Given the description of an element on the screen output the (x, y) to click on. 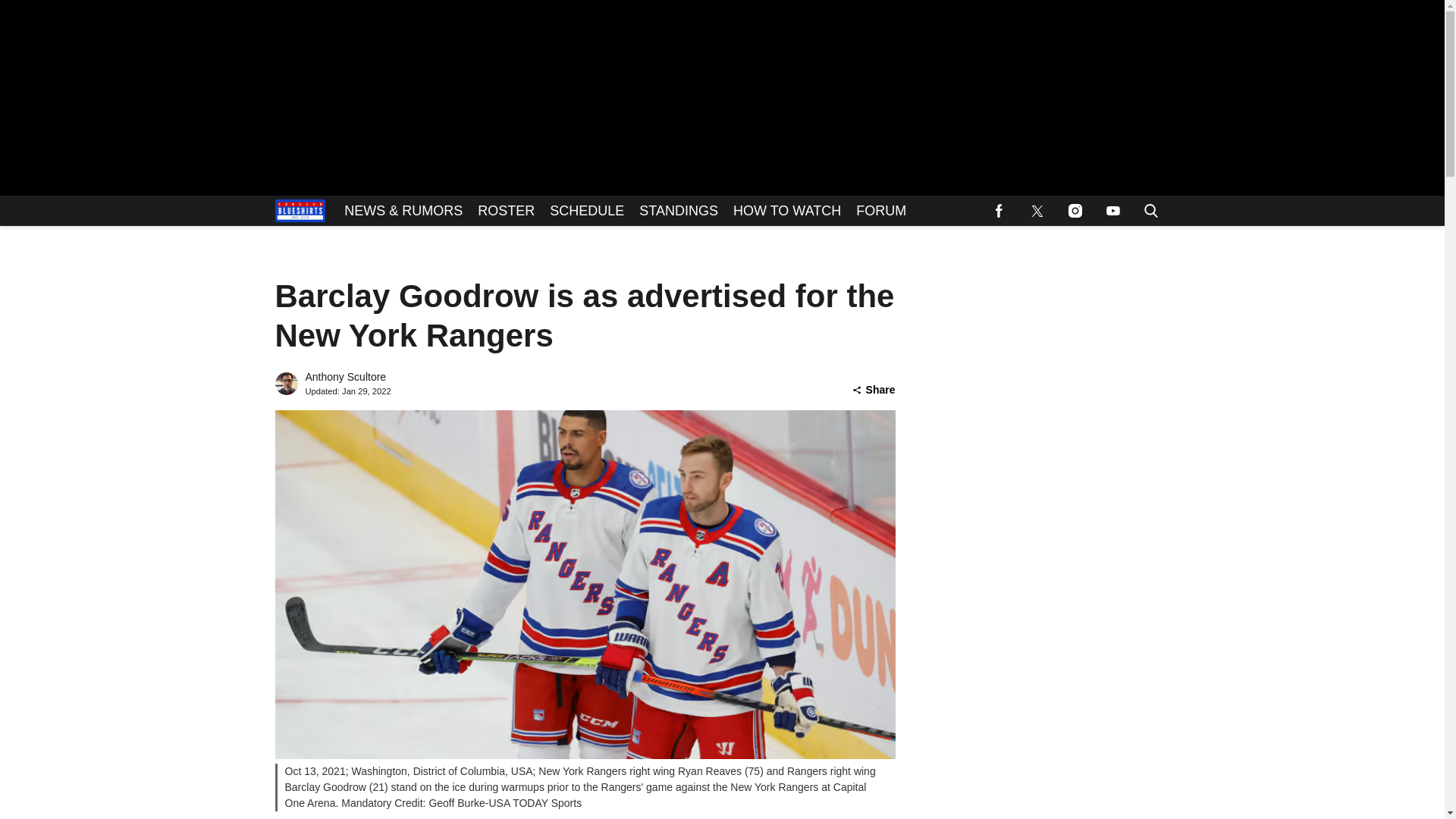
SCHEDULE (586, 210)
FORUM (881, 210)
Follow us on Instagram (1074, 210)
Posts by Anthony Scultore (344, 376)
Follow us on Twitter (1036, 210)
Anthony Scultore (344, 376)
STANDINGS (678, 210)
ROSTER (505, 210)
HOW TO WATCH (786, 210)
Follow us on Facebook (998, 210)
